Given the description of an element on the screen output the (x, y) to click on. 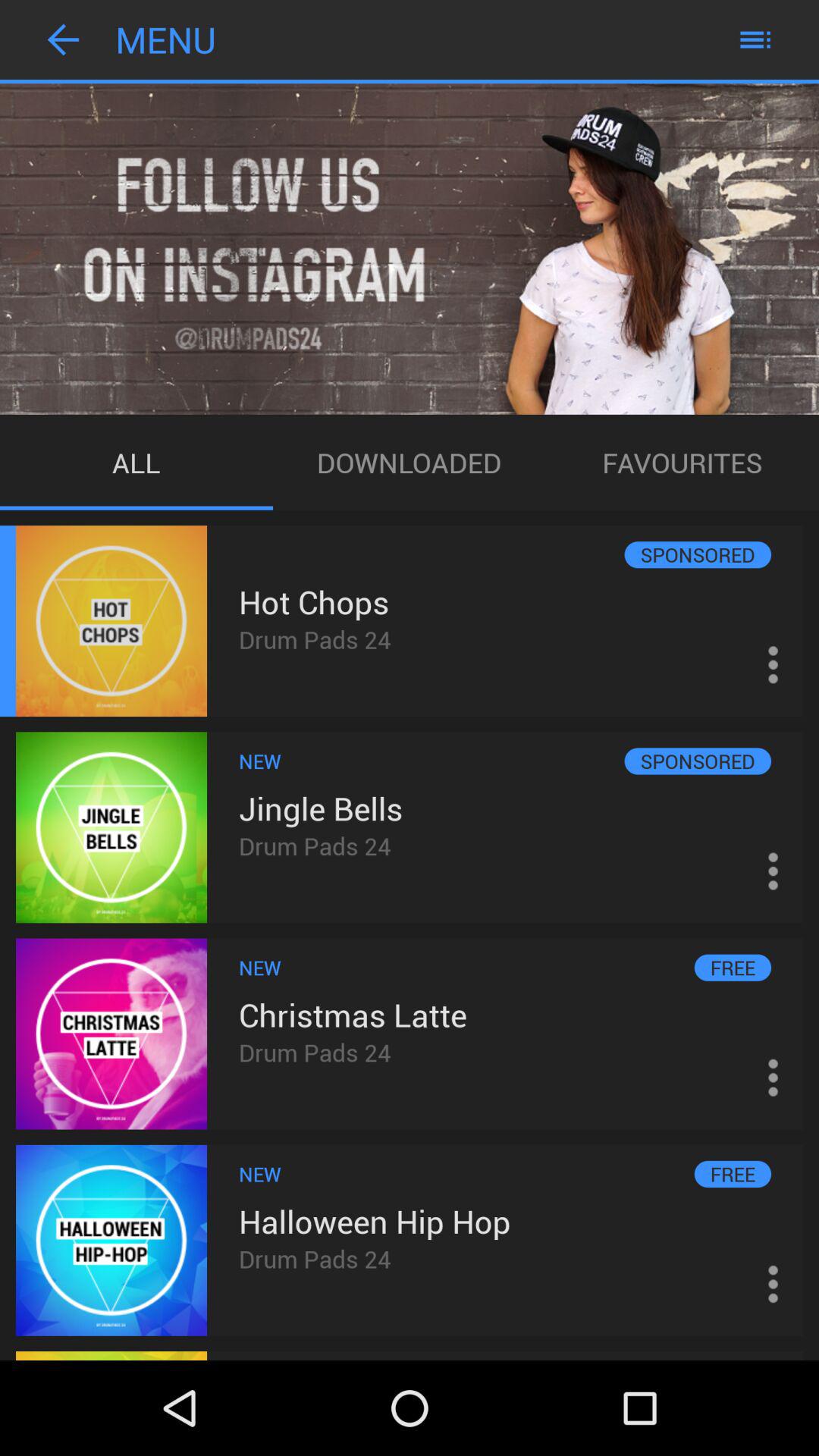
click on three dots in third line under favorites (773, 1077)
click the 3 vertical dots icon right to hot chops (773, 665)
